Given the description of an element on the screen output the (x, y) to click on. 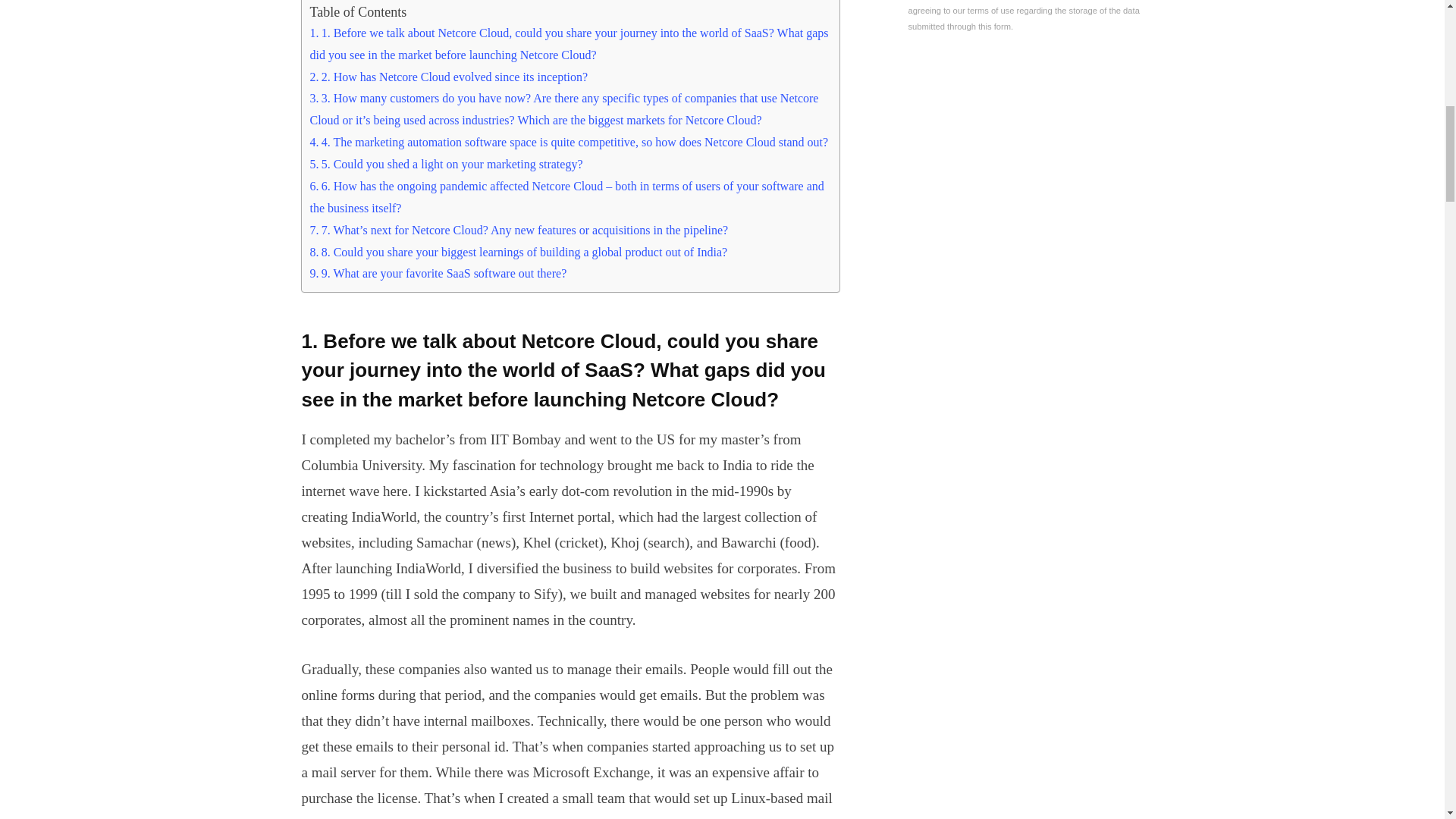
9. What are your favorite SaaS software out there? (437, 273)
5. Could you shed a light on your marketing strategy? (445, 164)
2. How has Netcore Cloud evolved since its inception? (448, 76)
9. What are your favorite SaaS software out there? (437, 273)
2. How has Netcore Cloud evolved since its inception? (448, 76)
5. Could you shed a light on your marketing strategy? (445, 164)
